Given the description of an element on the screen output the (x, y) to click on. 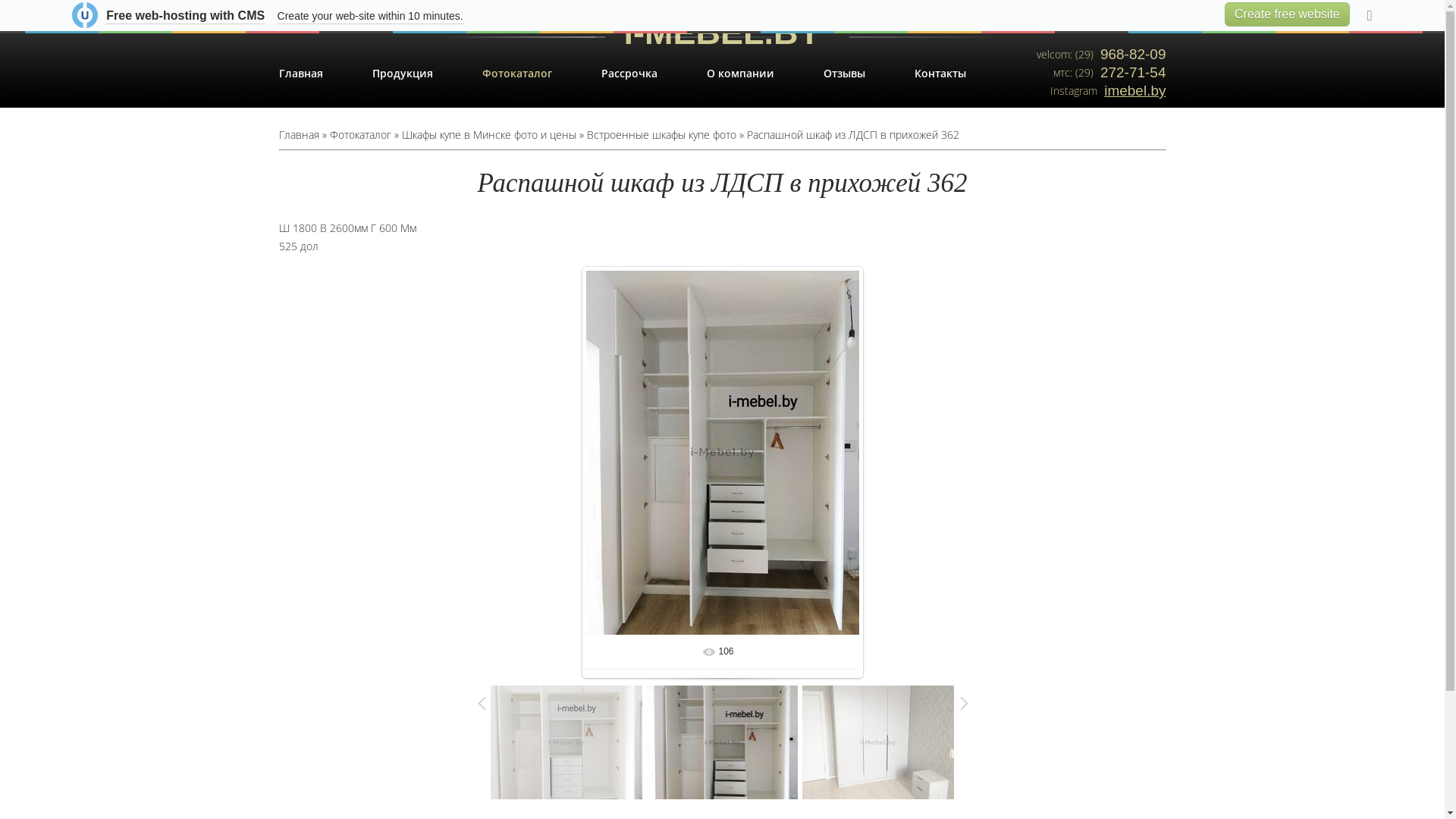
i-MEBEL.BY Element type: text (721, 16)
imebel.by Element type: text (1132, 90)
